Given the description of an element on the screen output the (x, y) to click on. 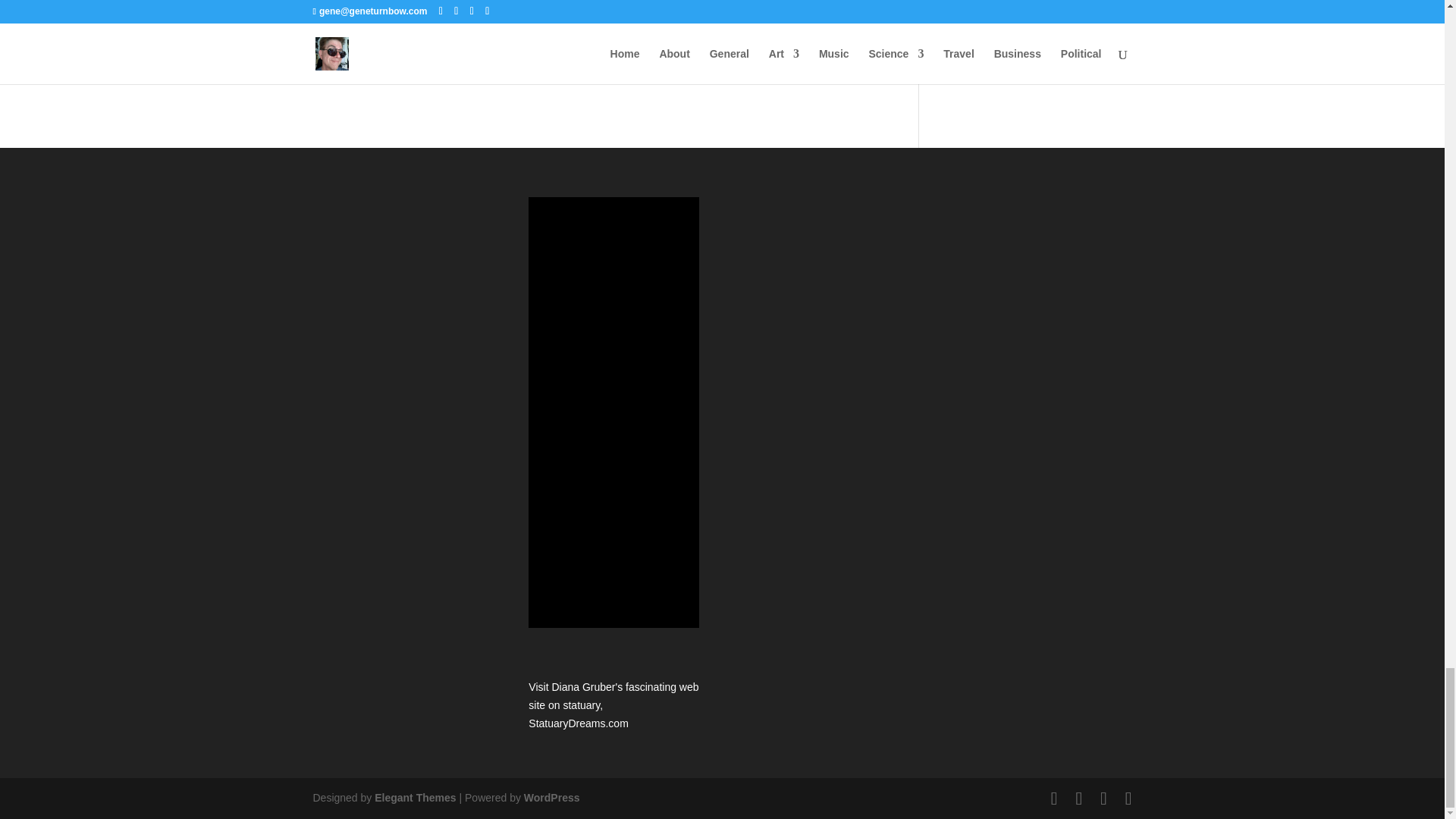
Premium WordPress Themes (414, 797)
